Given the description of an element on the screen output the (x, y) to click on. 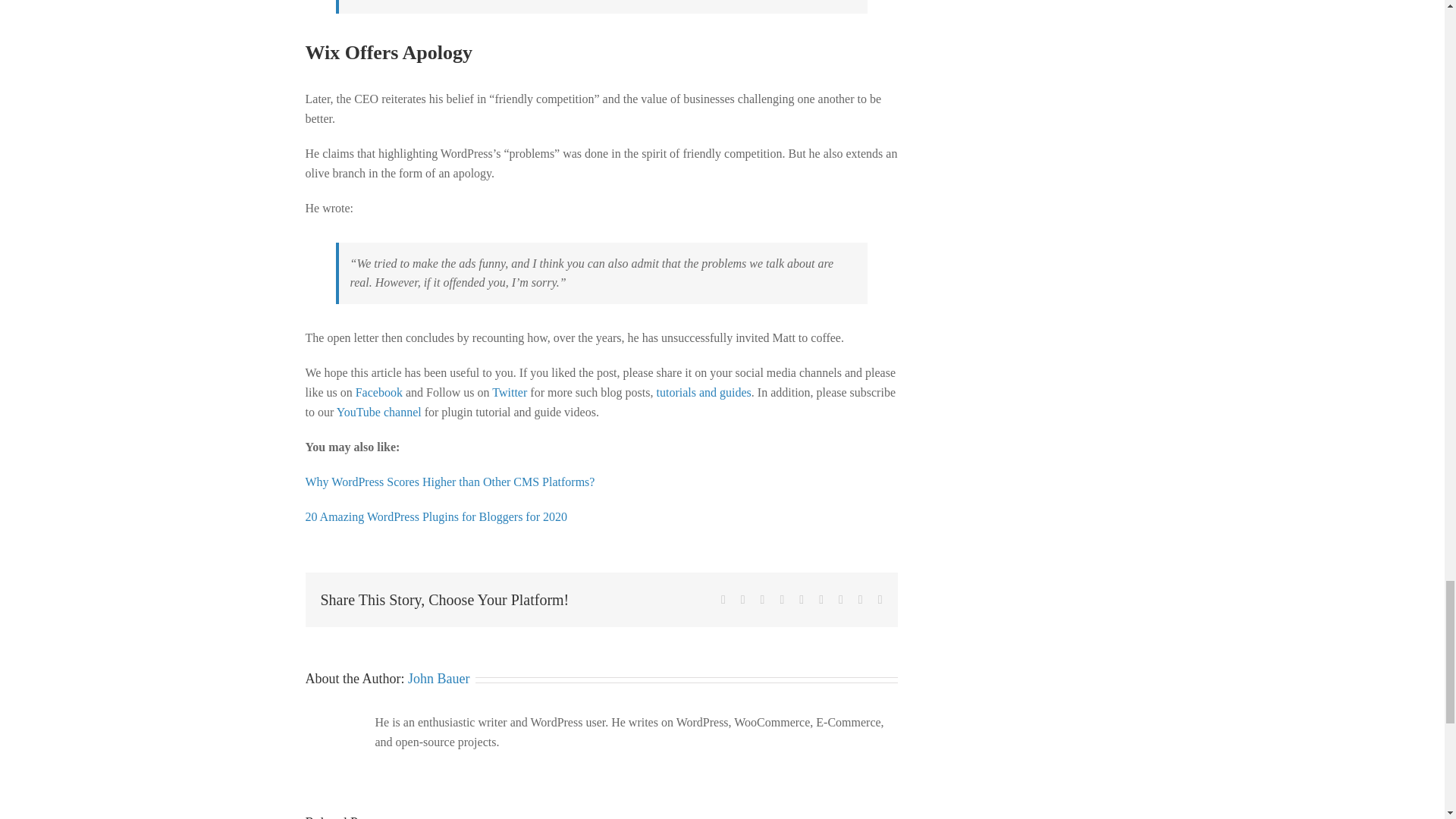
Posts by John Bauer (437, 678)
YouTube channel (379, 411)
Why WordPress Scores Higher than Other CMS Platforms? (449, 481)
Facebook (379, 391)
X (743, 599)
LinkedIn (781, 599)
Email (879, 599)
Pinterest (840, 599)
Twitter (509, 391)
tutorials and guides (703, 391)
Vk (861, 599)
John Bauer (437, 678)
WhatsApp (801, 599)
Facebook (722, 599)
Tumblr (821, 599)
